Given the description of an element on the screen output the (x, y) to click on. 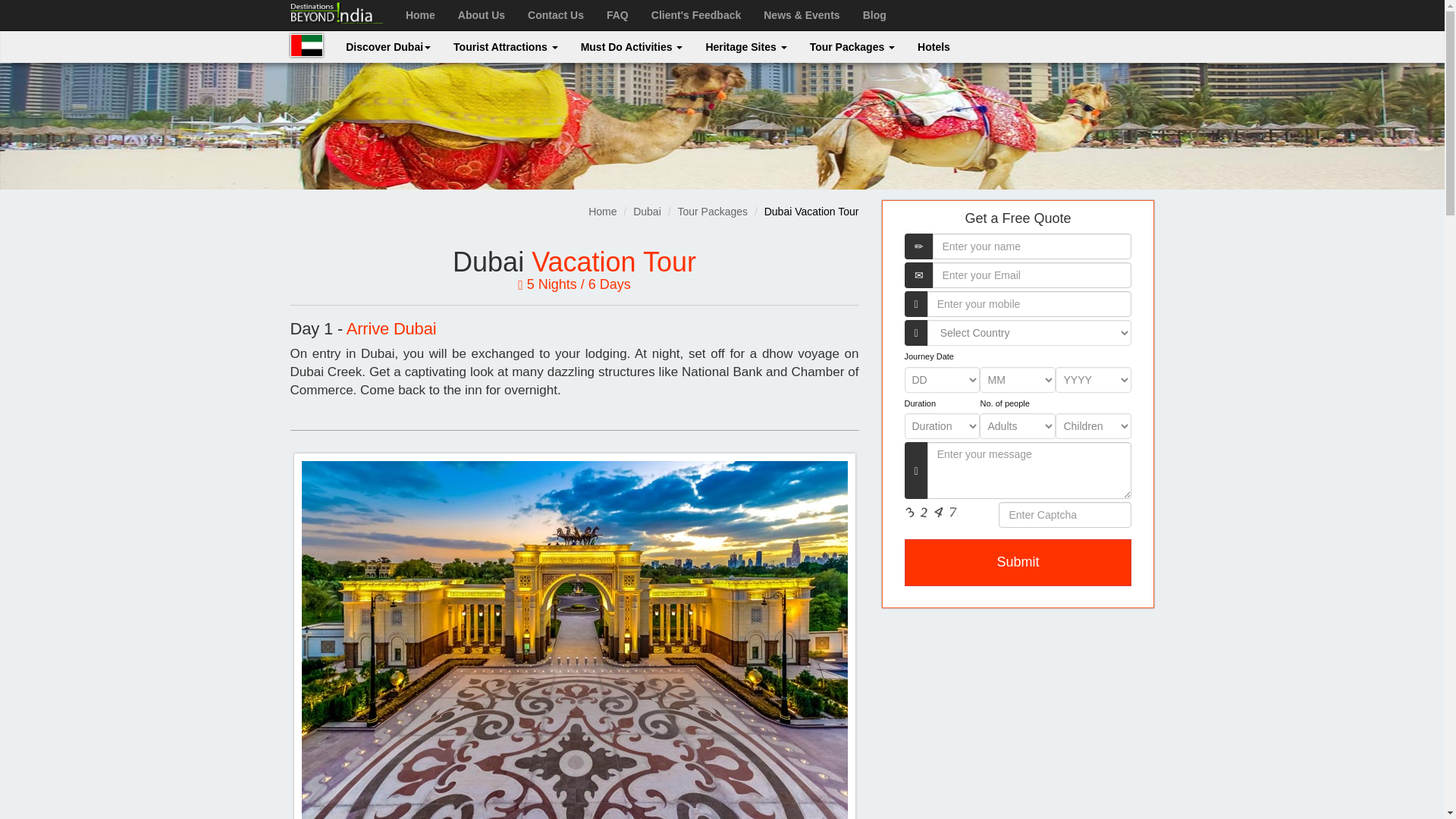
Client's Feedback (696, 15)
Contact Us (555, 15)
About Us (481, 15)
Discover Dubai (388, 46)
Tourist Attractions (505, 46)
Blog (874, 15)
Home (420, 15)
FAQ (617, 15)
Must Do Activities (631, 46)
Dubai (306, 45)
